Given the description of an element on the screen output the (x, y) to click on. 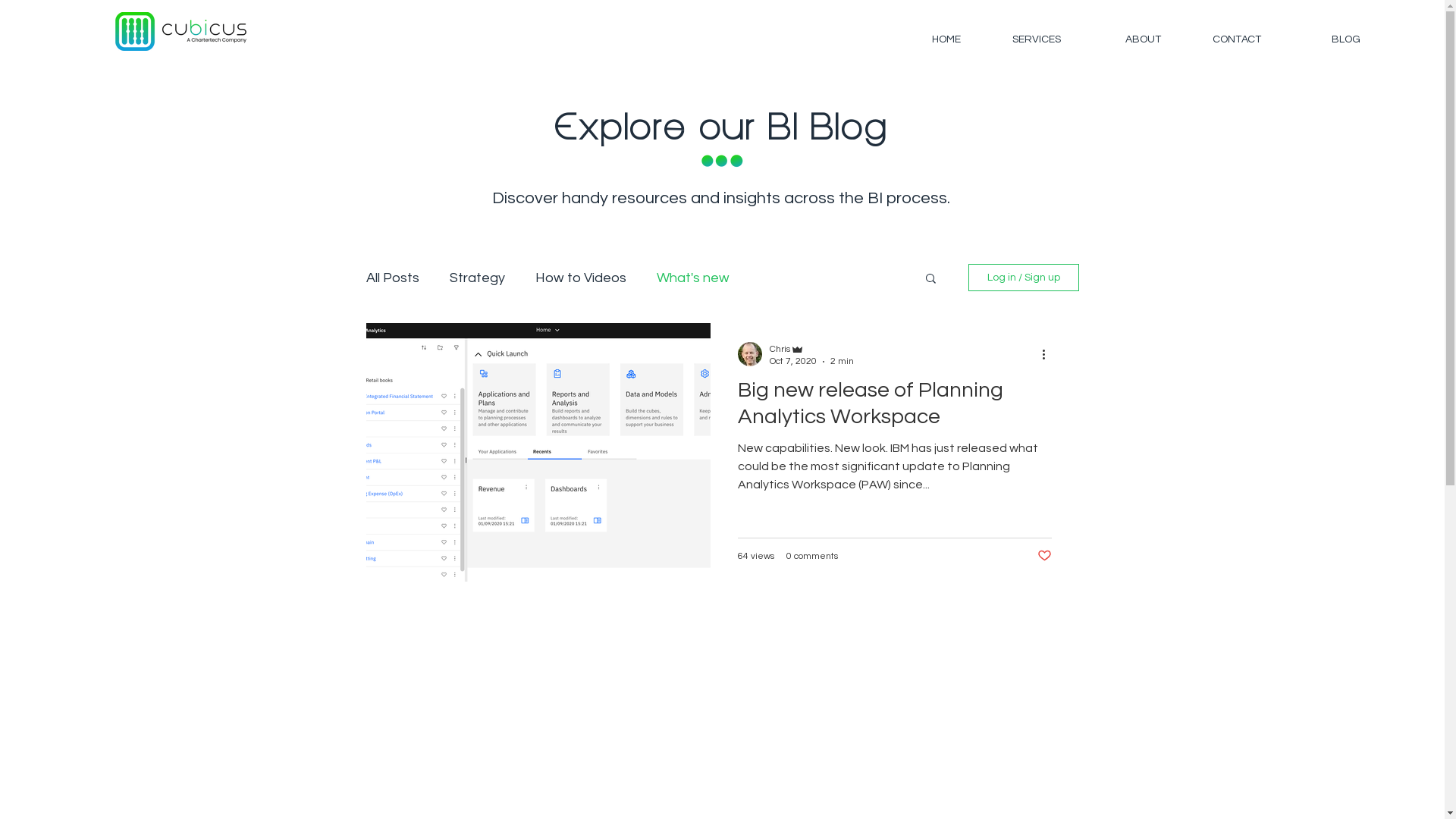
All Posts Element type: text (391, 276)
SERVICES Element type: text (1018, 39)
HOME Element type: text (918, 39)
What's new Element type: text (692, 276)
How to Videos Element type: text (580, 276)
ABOUT Element type: text (1118, 39)
Log in / Sign up Element type: text (1022, 277)
Strategy Element type: text (476, 276)
0 comments Element type: text (811, 556)
Post not marked as liked Element type: text (1044, 555)
BLOG Element type: text (1318, 39)
CONTACT Element type: text (1218, 39)
Big new release of Planning Analytics Workspace Element type: text (894, 407)
